Given the description of an element on the screen output the (x, y) to click on. 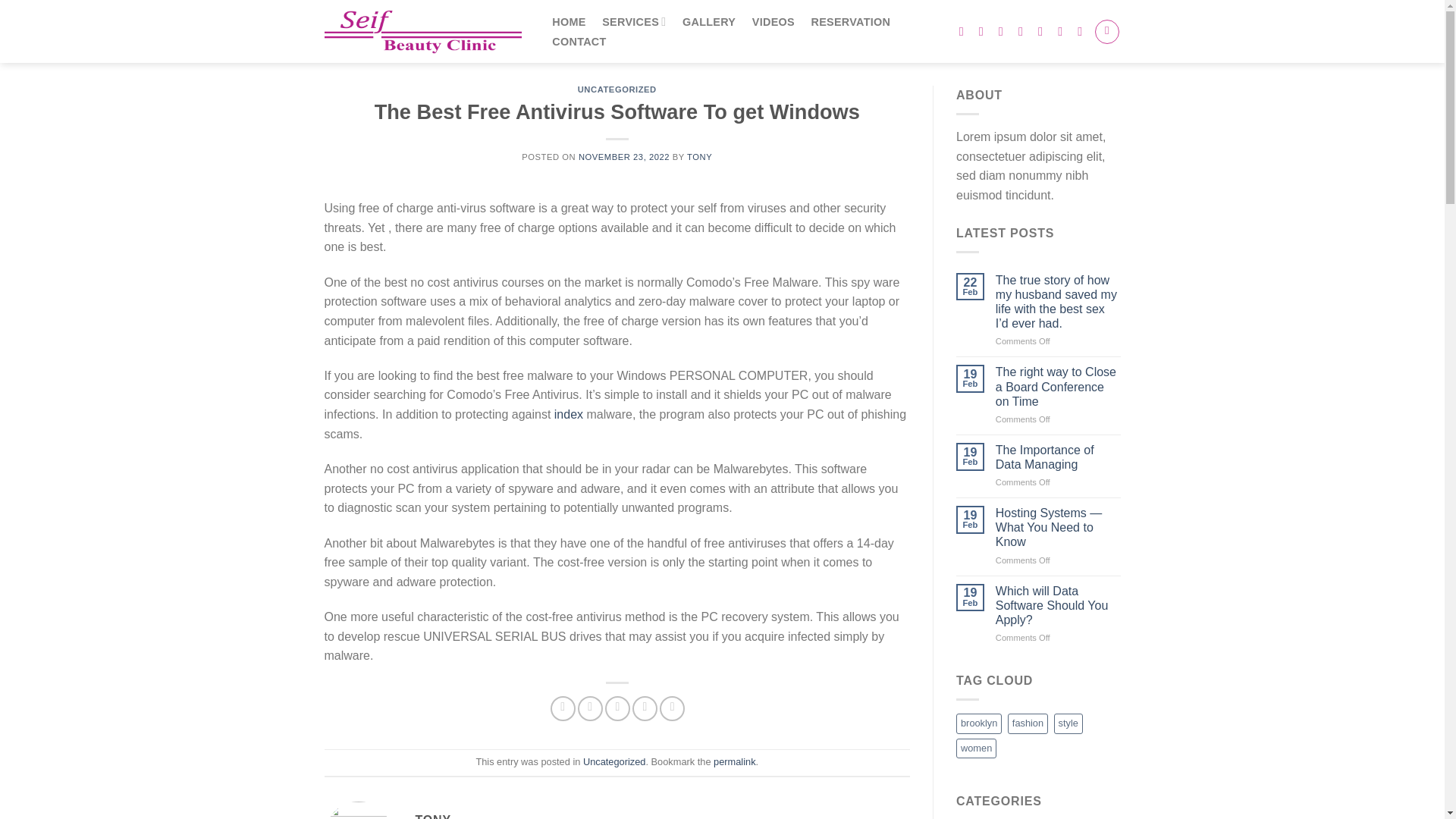
HOME (569, 21)
RESERVATION (850, 21)
Share on Twitter (590, 708)
Permalink to The Best Free Antivirus Software To get Windows (734, 761)
NOVEMBER 23, 2022 (623, 156)
Share on Facebook (562, 708)
Call us (1064, 30)
CONTACT (579, 40)
GALLERY (709, 21)
Follow on Facebook (965, 30)
index (568, 413)
Email to a Friend (617, 708)
Seif Beauty Clinic (422, 31)
Share on LinkedIn (671, 708)
TONY (699, 156)
